Given the description of an element on the screen output the (x, y) to click on. 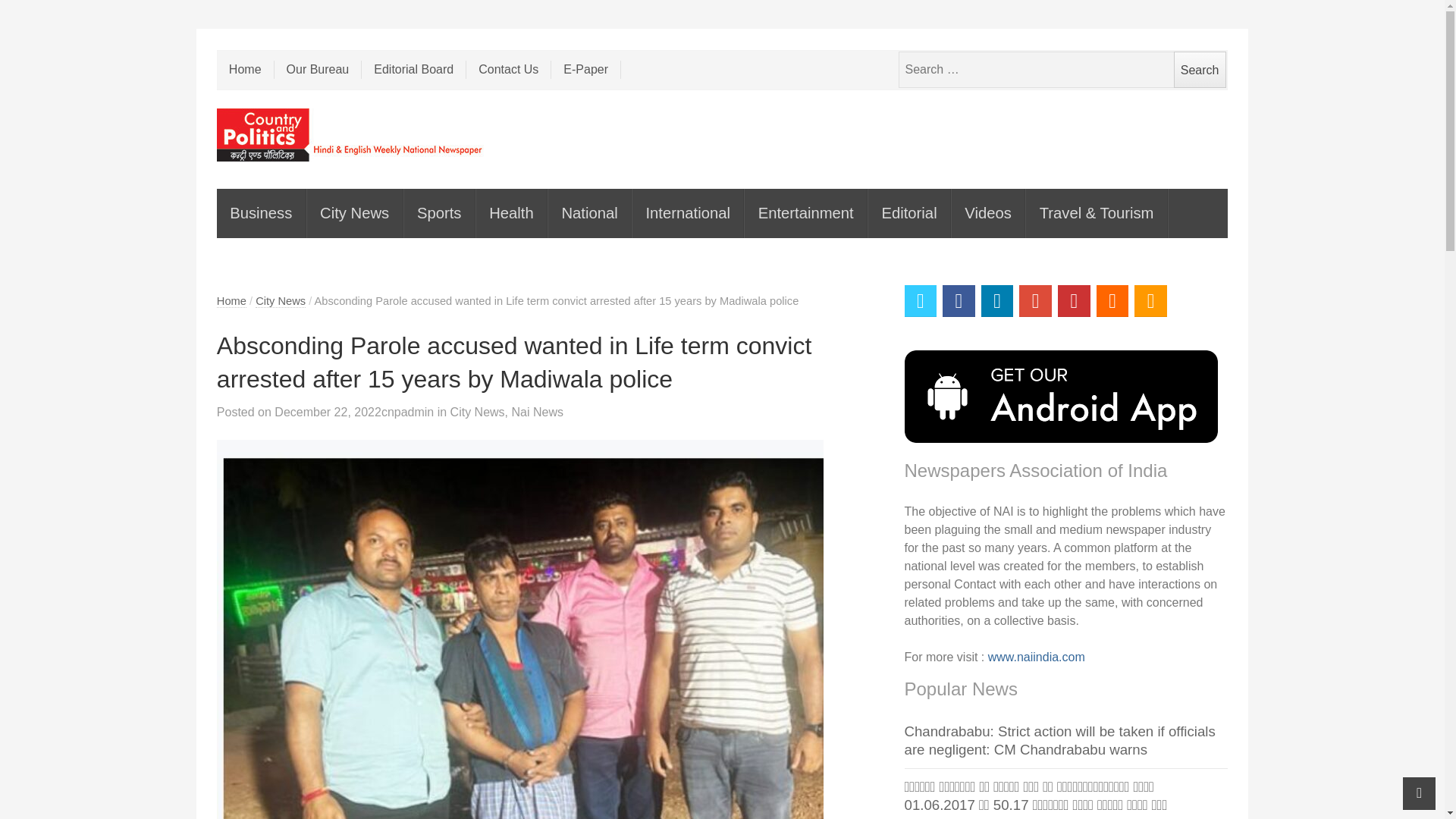
Nai News (536, 411)
Business (260, 213)
City News (280, 300)
December 22, 2022 (328, 411)
Contact Us (508, 69)
National (589, 213)
Sports (440, 213)
View all posts by cnpadmin (407, 411)
Search (1199, 69)
1:30 am (328, 411)
